Given the description of an element on the screen output the (x, y) to click on. 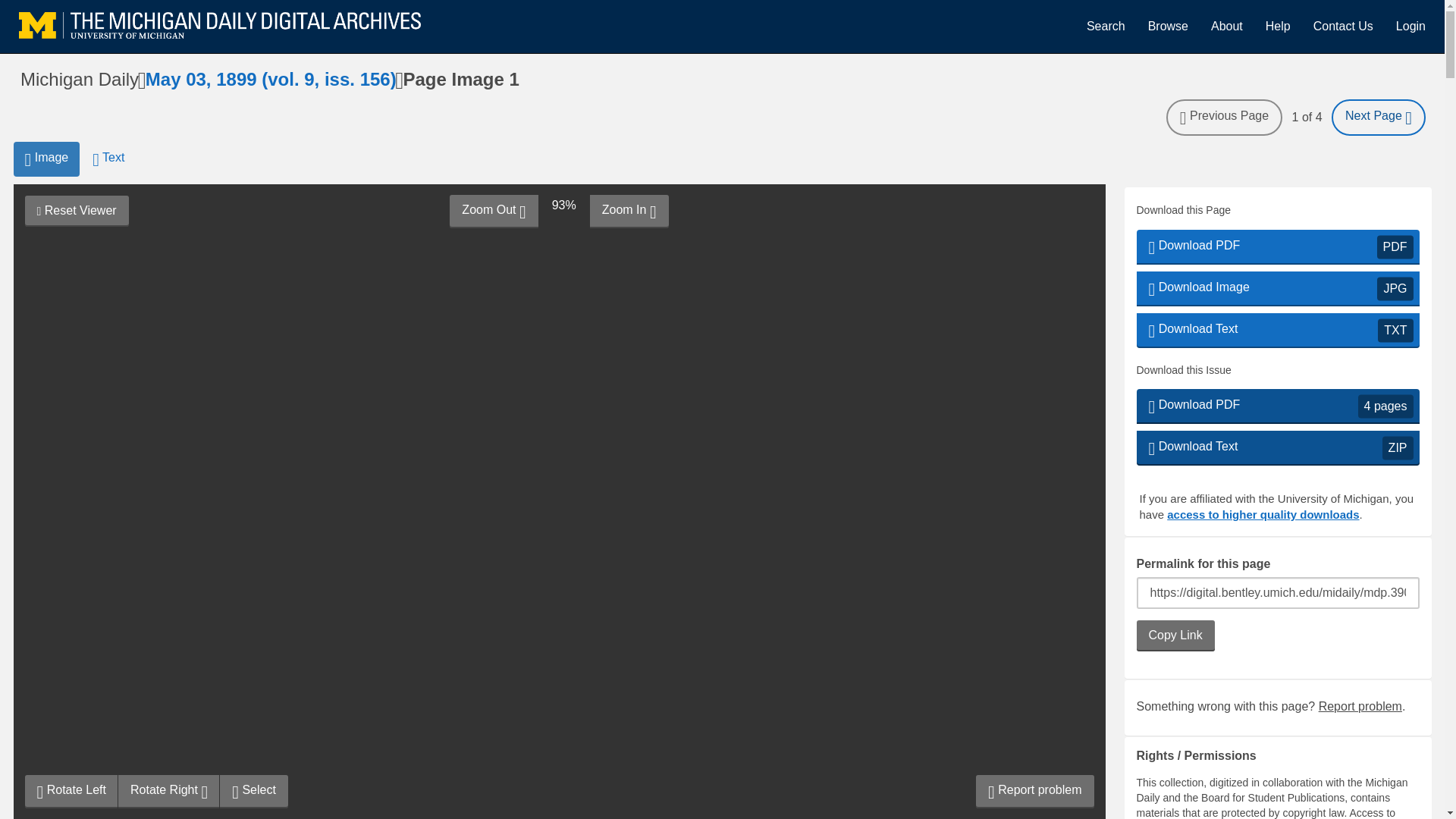
Browse (1168, 26)
Rotate Left (1276, 288)
Zoom out (70, 791)
Text (1276, 247)
Contact Us (493, 211)
Report problem (108, 158)
Image (1342, 26)
Help (1360, 706)
Copy Link (46, 158)
Zoom in (1277, 26)
Rotate Right (1174, 635)
About (1276, 448)
